Given the description of an element on the screen output the (x, y) to click on. 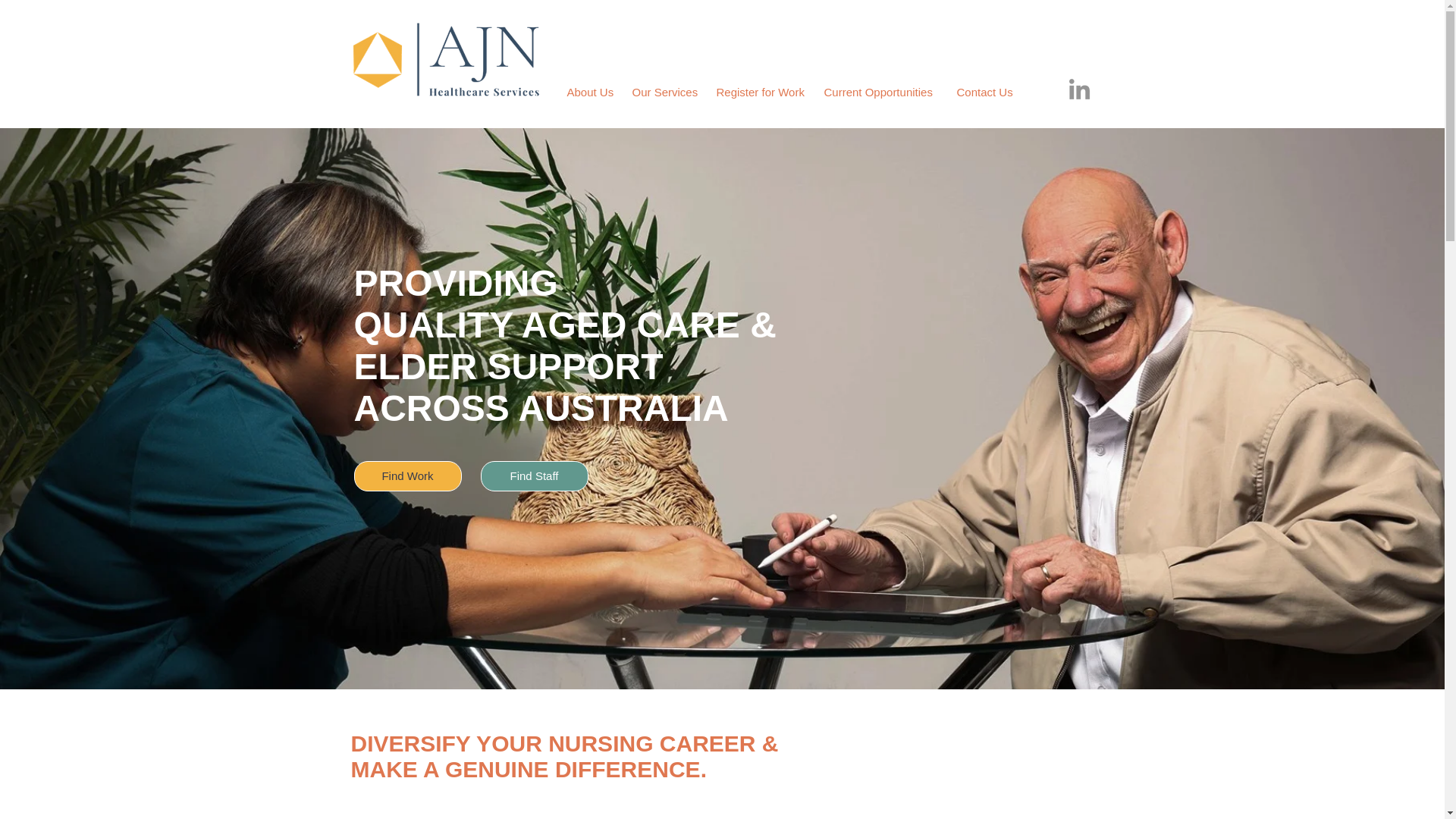
Find Work (407, 476)
Our Services (666, 92)
Register for Work (761, 92)
Contact Us (986, 92)
About Us (591, 92)
Find Staff (534, 476)
Current Opportunities (882, 92)
